Given the description of an element on the screen output the (x, y) to click on. 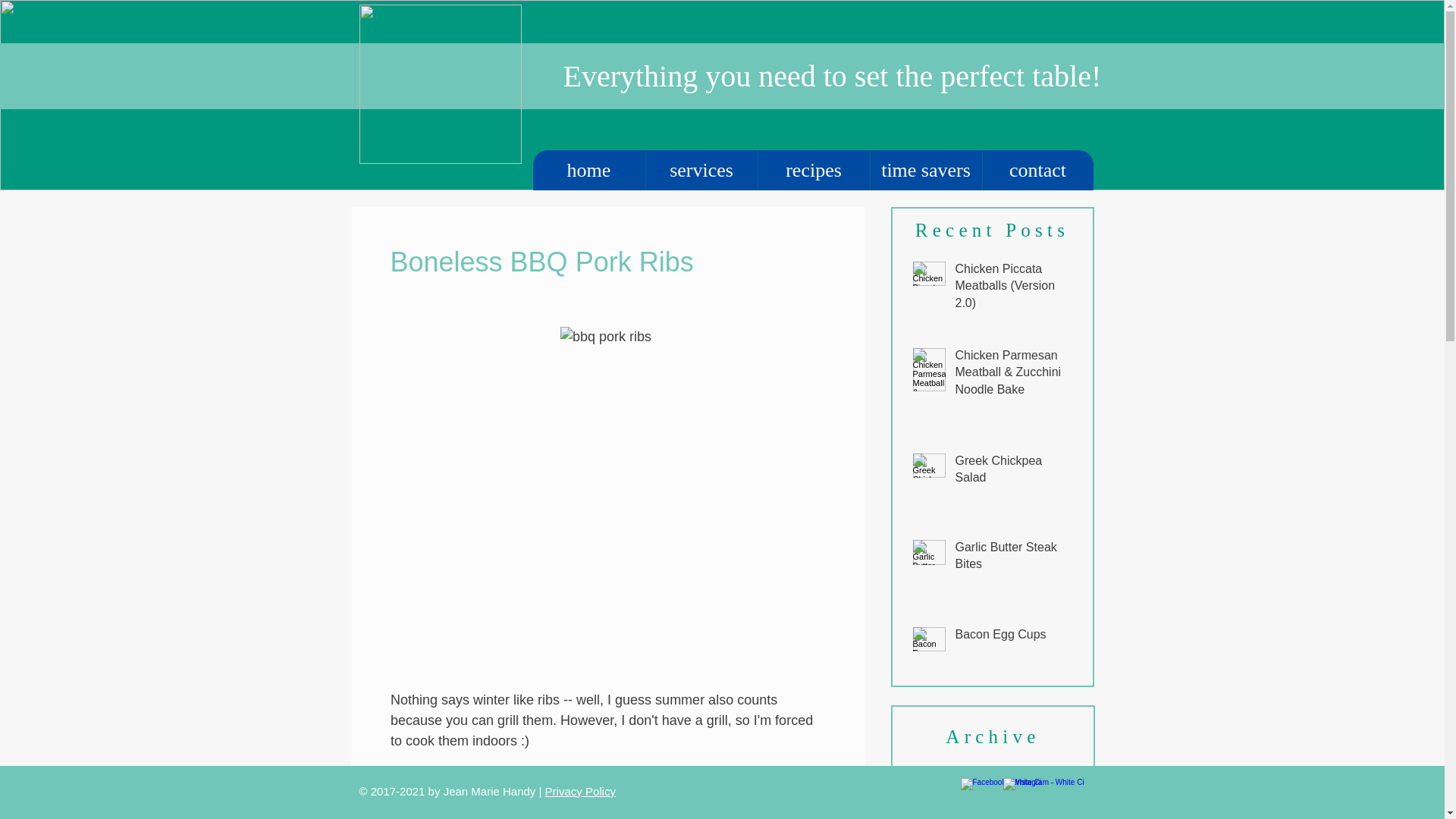
Bacon Egg Cups (1014, 637)
home (588, 169)
recipes (813, 169)
Greek Chickpea Salad (1014, 472)
contact (1037, 169)
time savers (925, 169)
Garlic Butter Steak Bites (1014, 558)
services (701, 169)
